Given the description of an element on the screen output the (x, y) to click on. 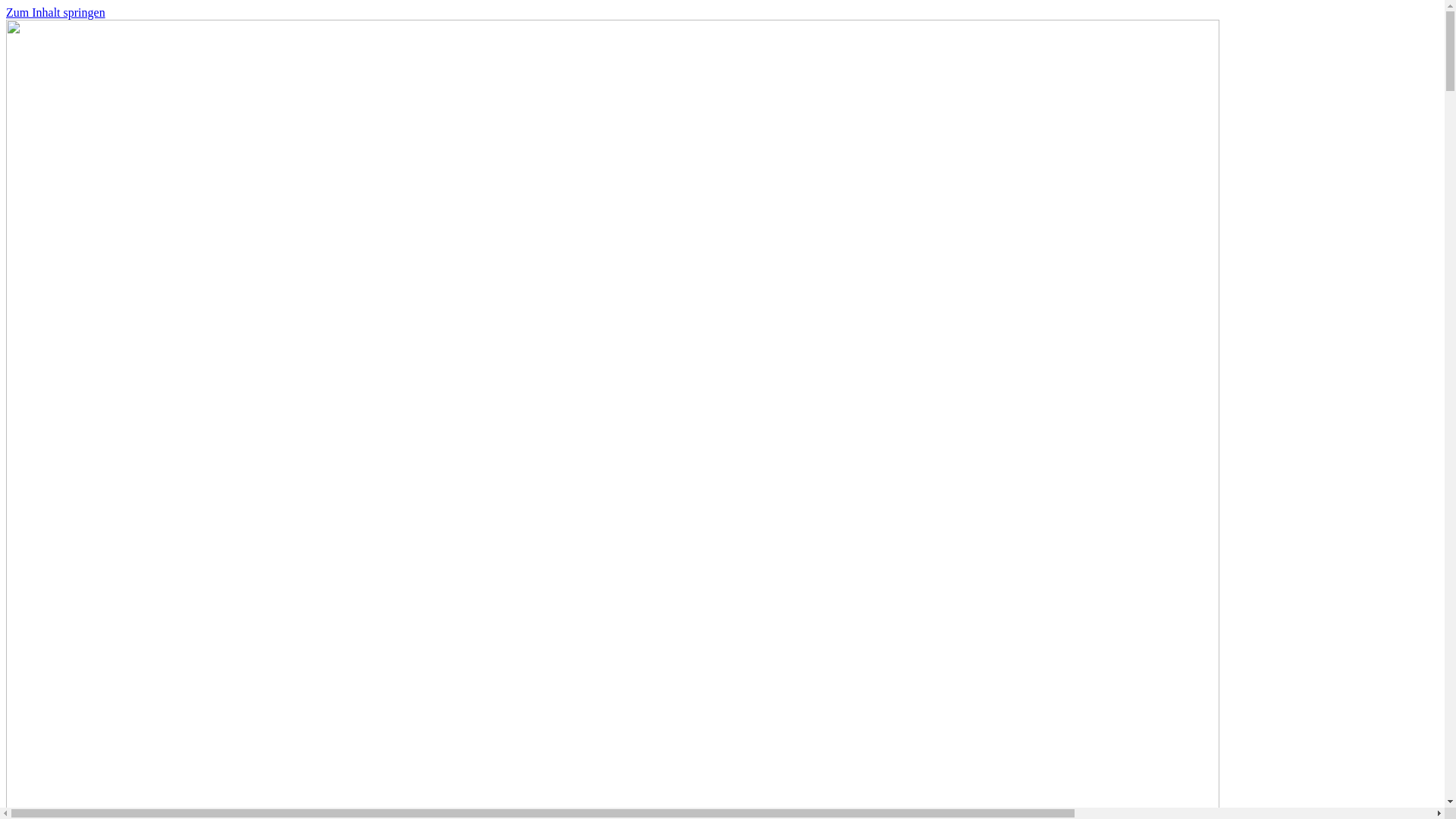
Zum Inhalt springen Element type: text (55, 12)
